Given the description of an element on the screen output the (x, y) to click on. 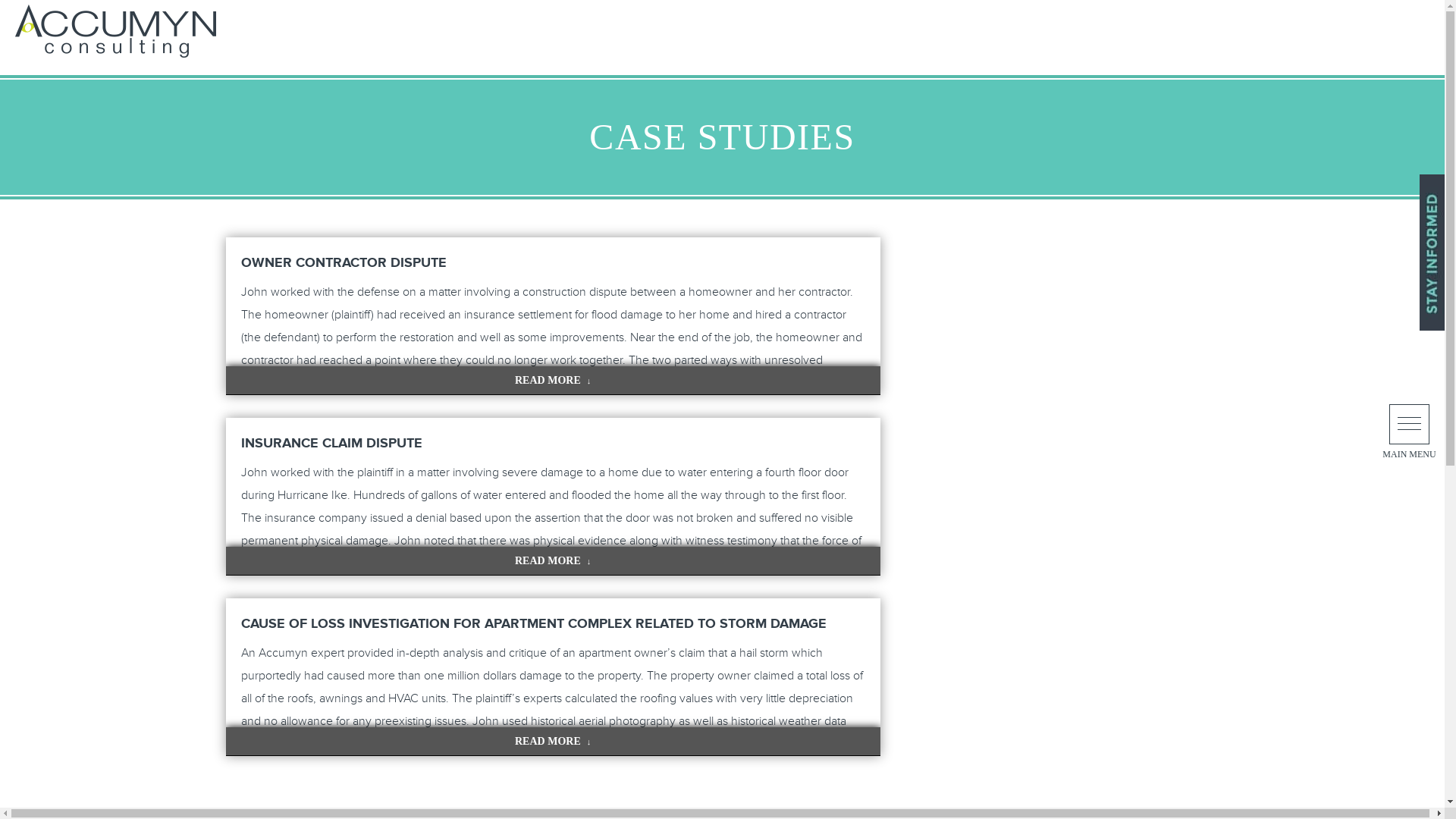
READ MORE (552, 741)
Accumyn Consulting (116, 30)
Search (35, 15)
READ MORE (552, 379)
READ MORE (552, 560)
